Given the description of an element on the screen output the (x, y) to click on. 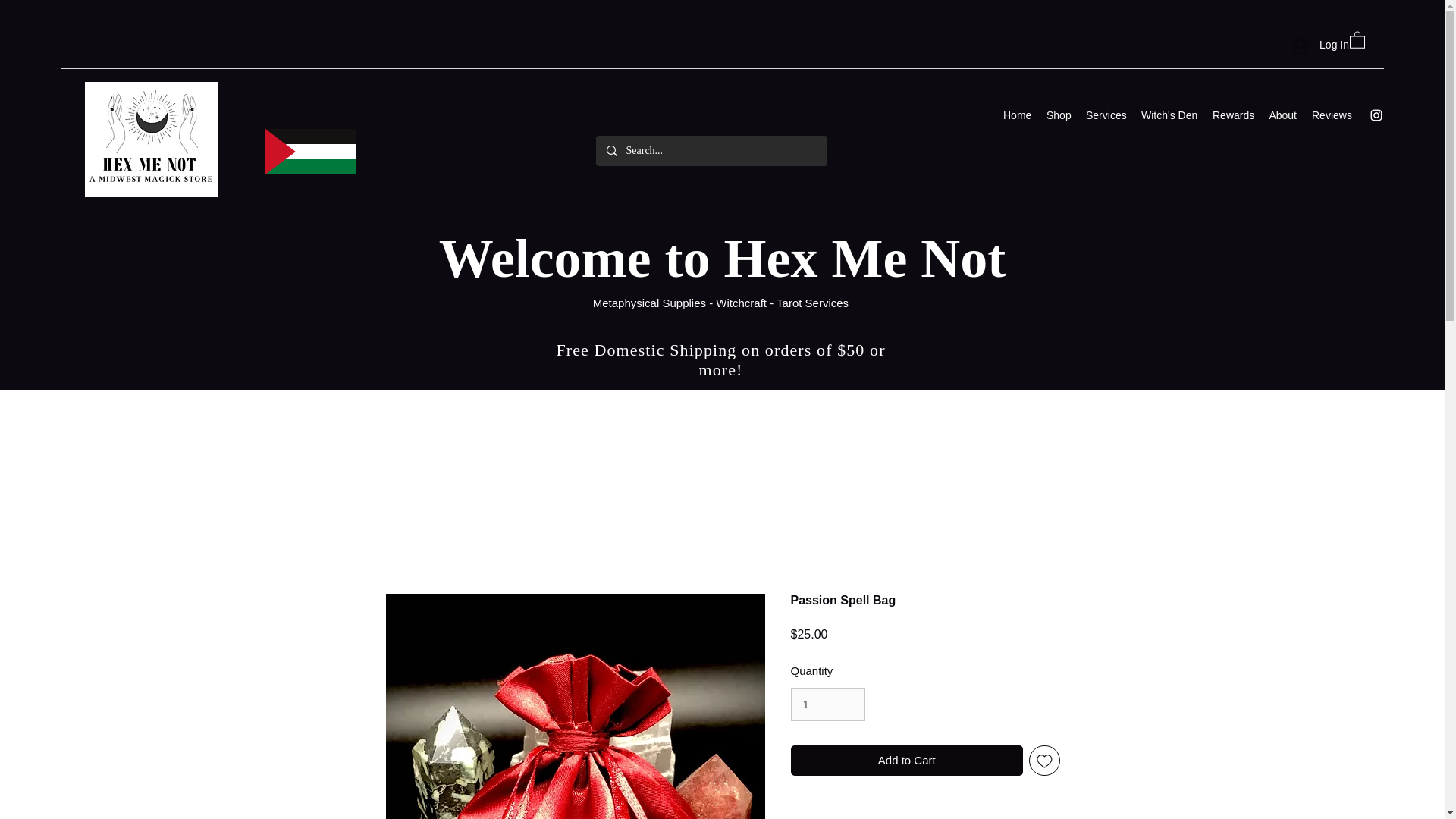
About (1282, 115)
Reviews (1331, 115)
1 (827, 704)
Shop (1058, 115)
Log In (1320, 44)
Witch's Den (1169, 115)
Services (1106, 115)
Home (1017, 115)
Rewards (1232, 115)
Add to Cart (906, 760)
